Given the description of an element on the screen output the (x, y) to click on. 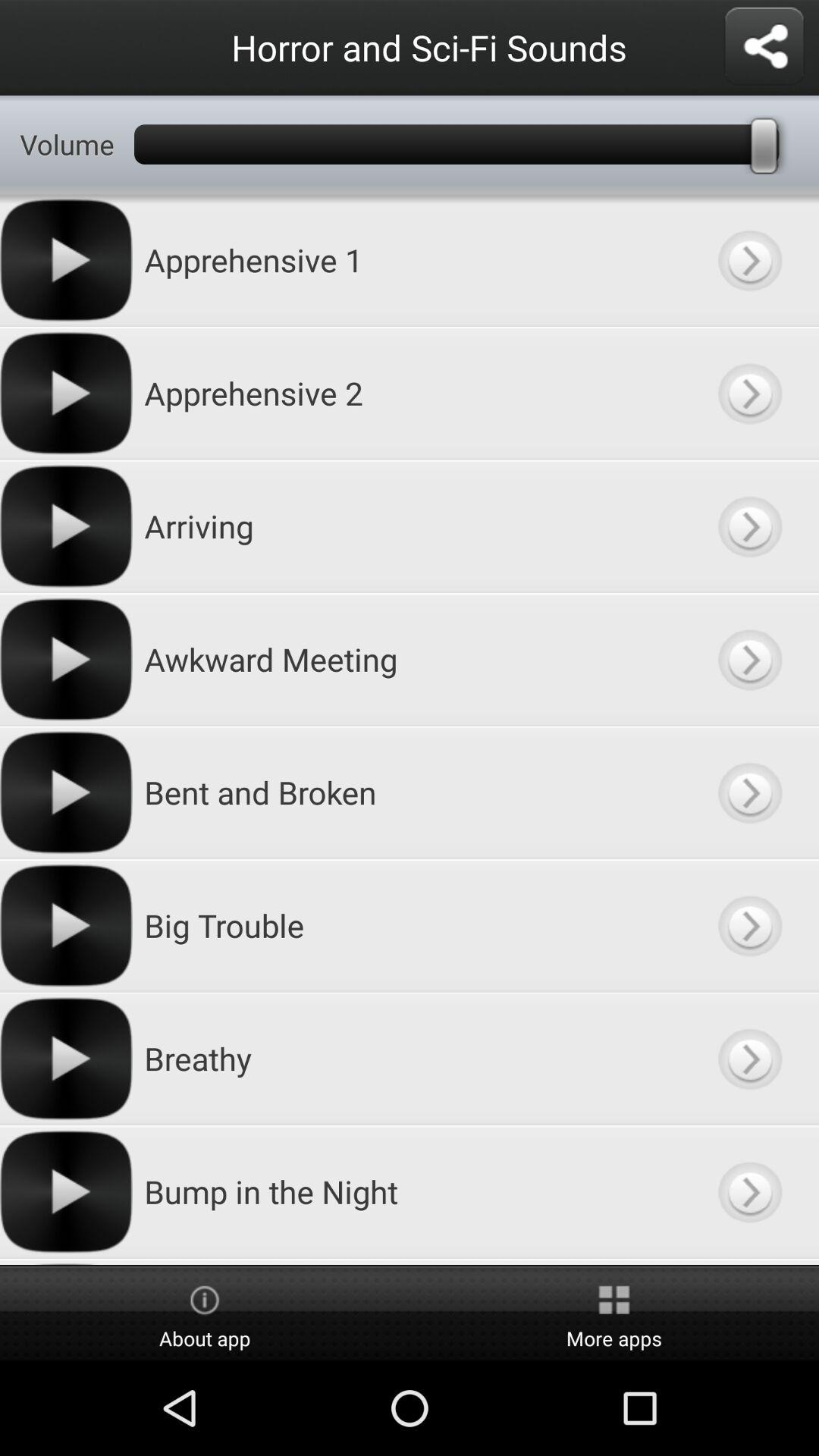
open (749, 526)
